Given the description of an element on the screen output the (x, y) to click on. 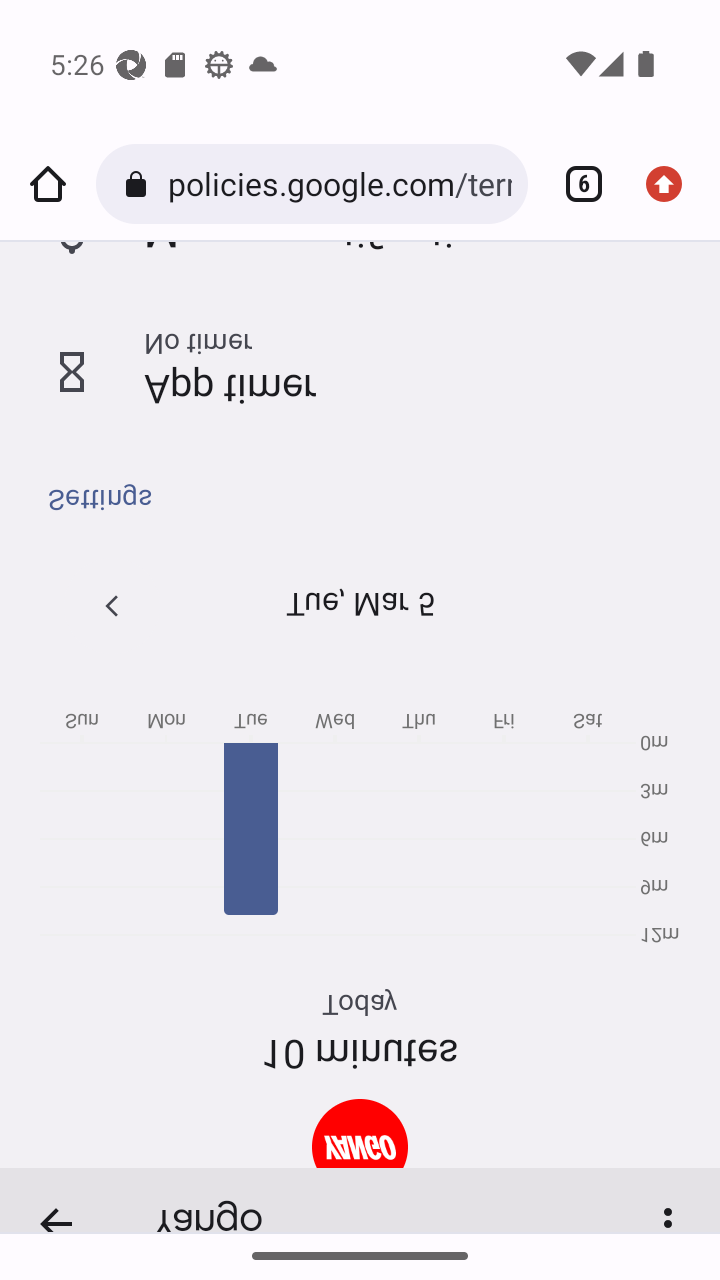
Home (47, 184)
Connection is secure (139, 184)
Switch or close tabs (575, 184)
Update available. More options (672, 184)
policies.google.com/terms (339, 184)
